Given the description of an element on the screen output the (x, y) to click on. 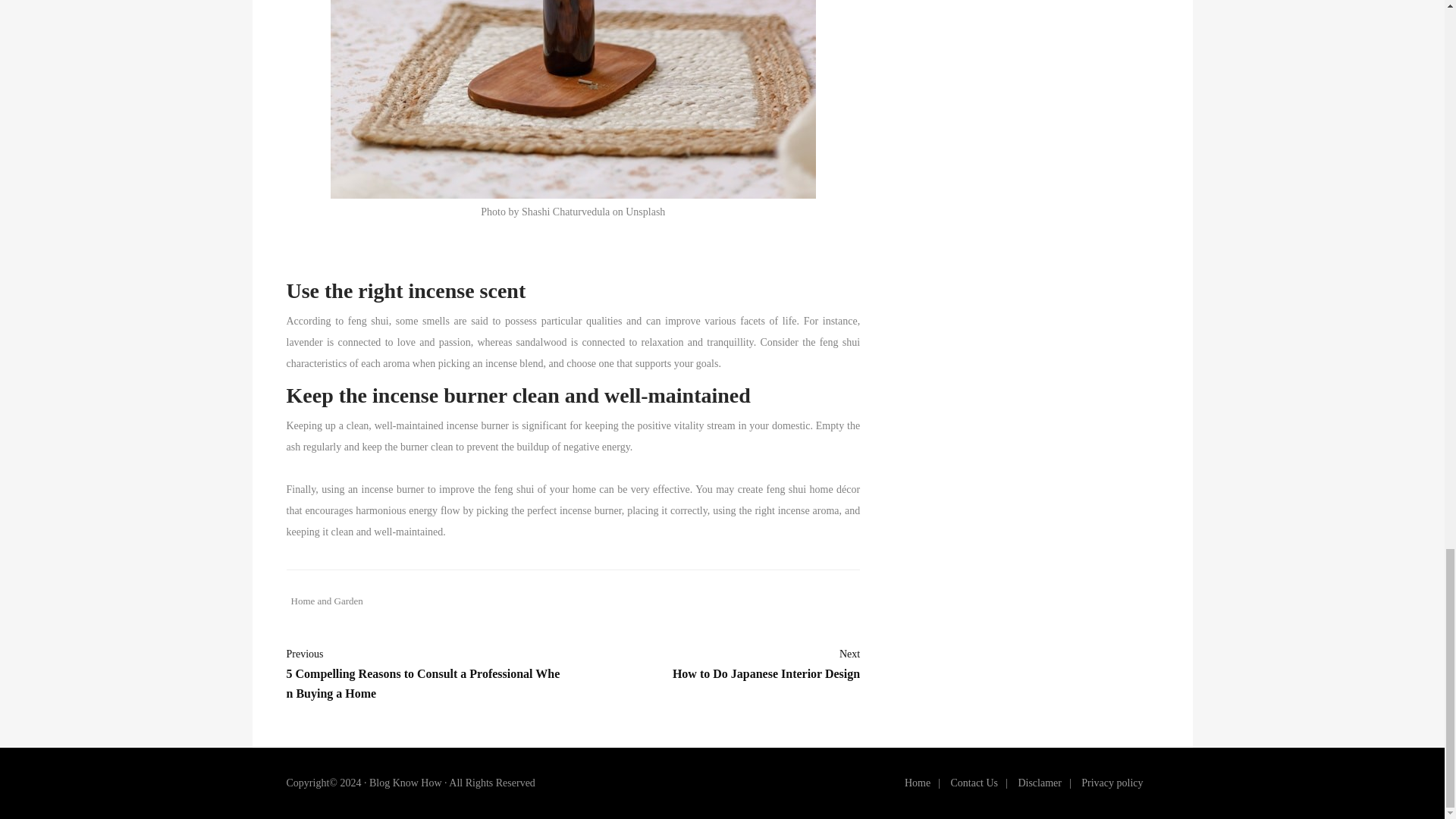
Home and Garden (324, 600)
